Given the description of an element on the screen output the (x, y) to click on. 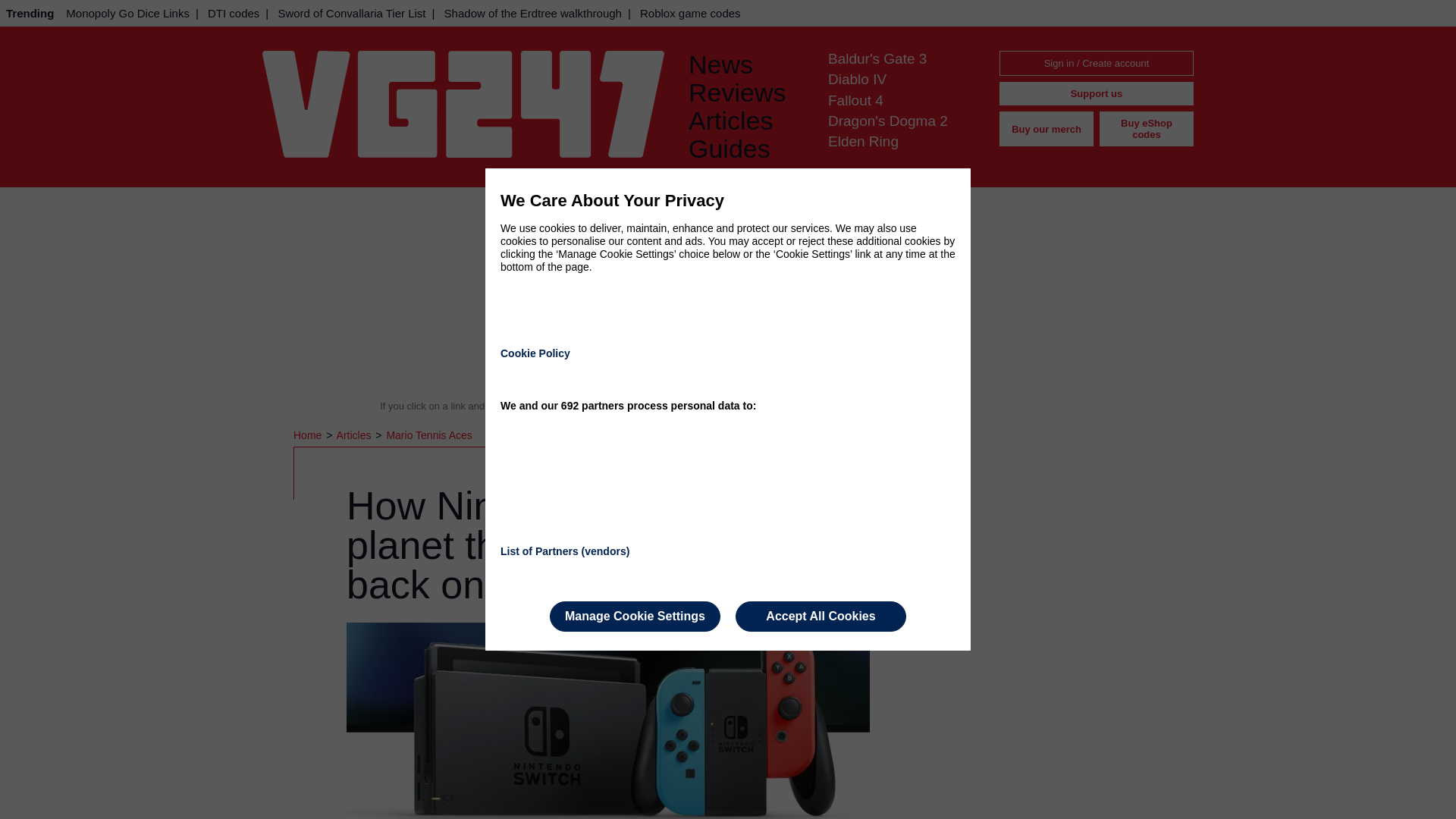
Roblox game codes (689, 13)
Shadow of the Erdtree walkthrough (532, 13)
Home (309, 435)
Elden Ring (863, 141)
Baldur's Gate 3 (877, 58)
Buy our merch (1045, 128)
Articles (745, 121)
DTI codes (233, 13)
Fallout 4 (855, 100)
Home (309, 435)
